Given the description of an element on the screen output the (x, y) to click on. 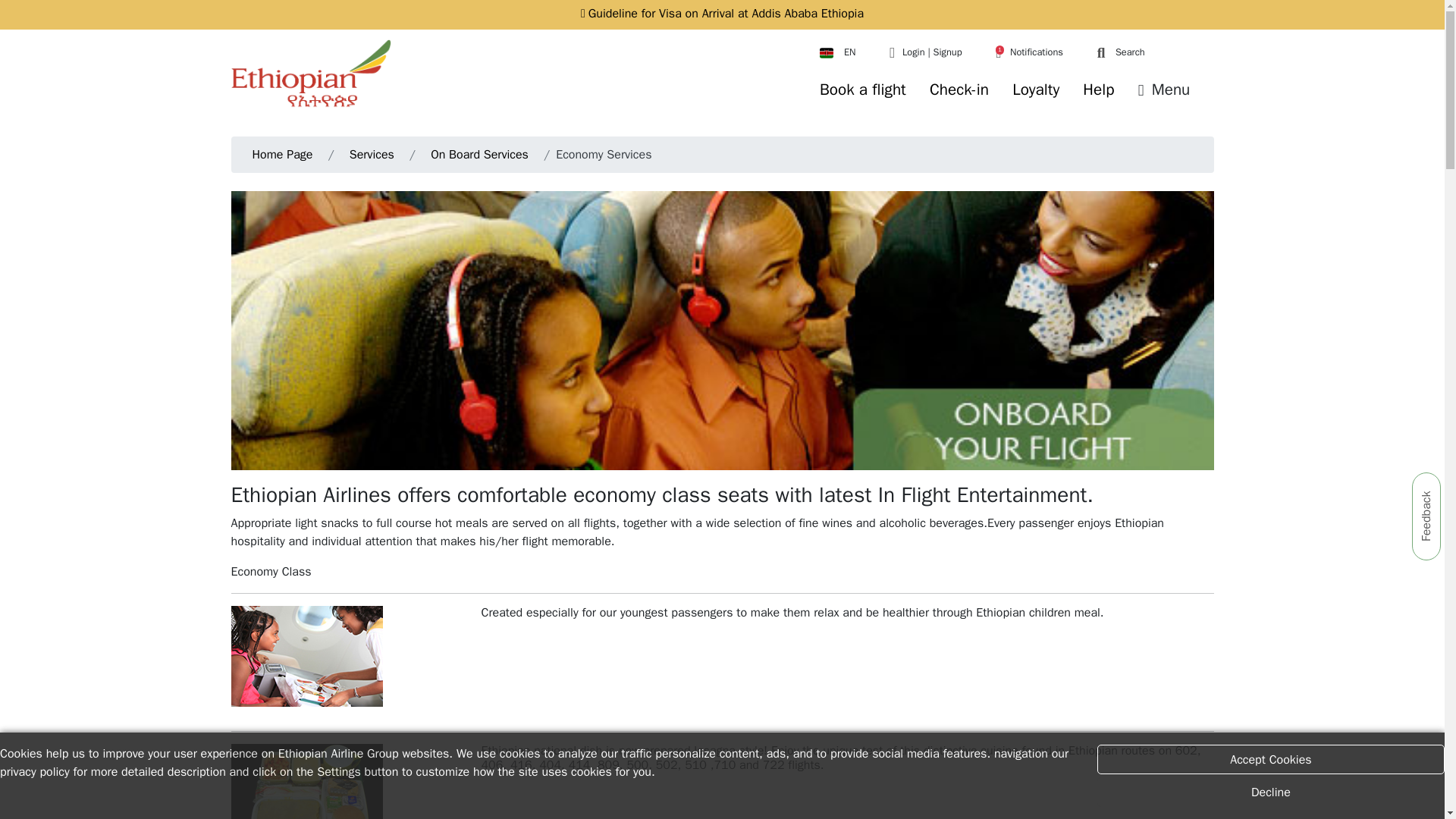
Check-in (959, 89)
Loyalty (1035, 89)
Help (1098, 89)
 Guideline for Visa on Arrival at Addis Ababa Ethiopia (721, 13)
Book a flight (862, 89)
